Given the description of an element on the screen output the (x, y) to click on. 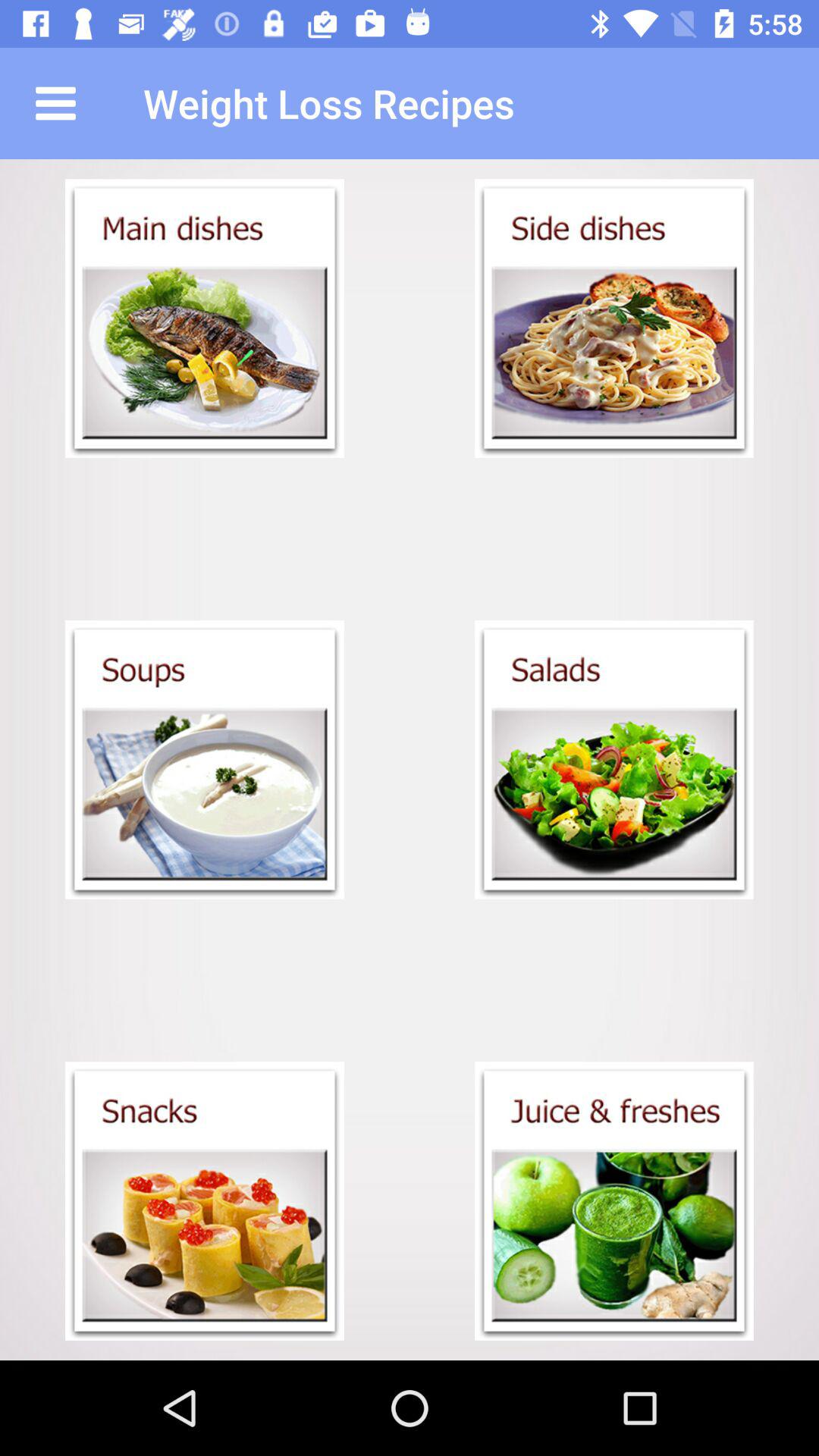
select juice and freshes (614, 1200)
